Given the description of an element on the screen output the (x, y) to click on. 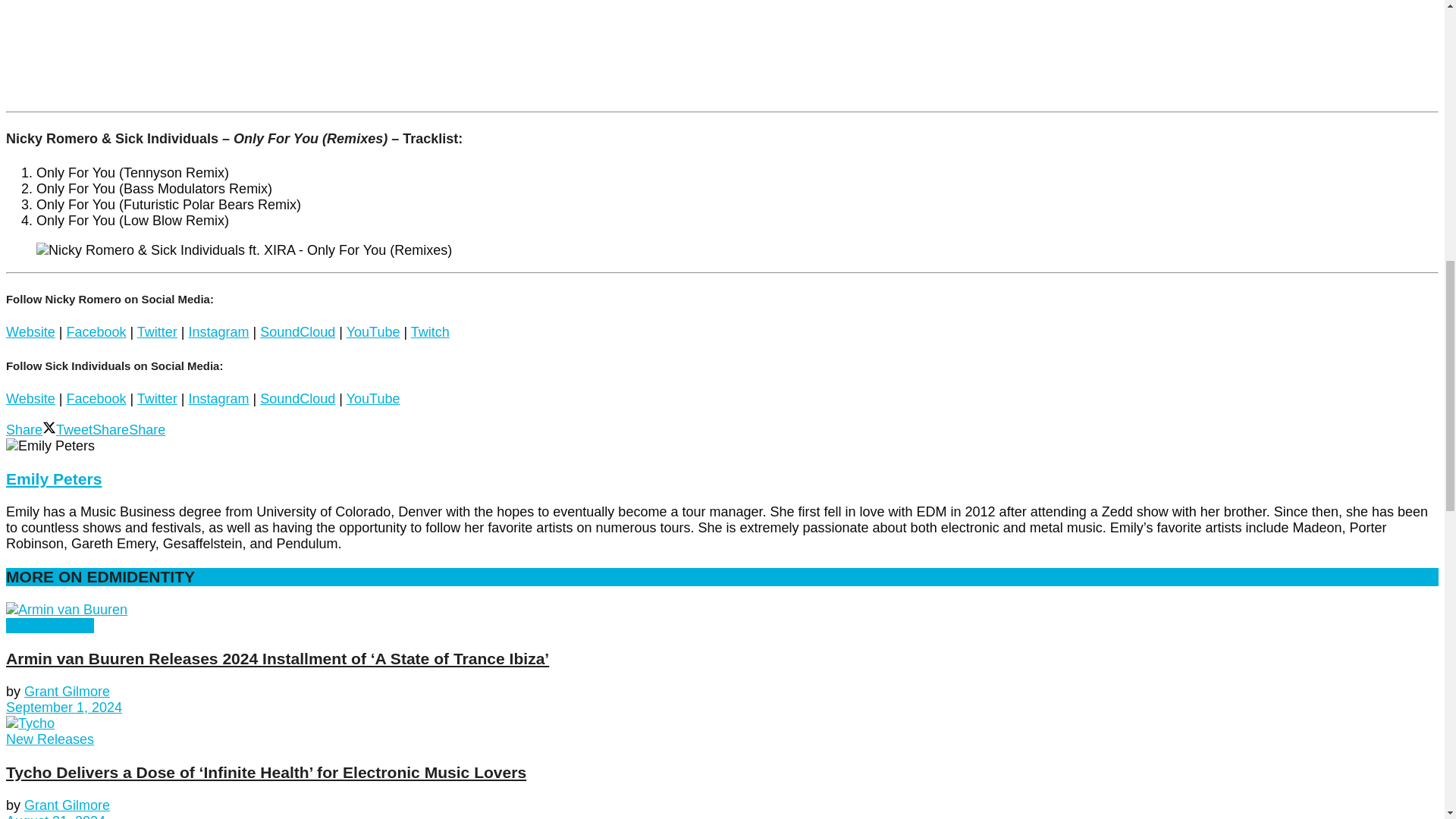
Facebook (95, 331)
Website (30, 331)
Facebook (95, 398)
Website (30, 398)
YouTube (373, 331)
SoundCloud (297, 331)
Twitch (429, 331)
Twitter (156, 331)
Instagram (218, 331)
